Given the description of an element on the screen output the (x, y) to click on. 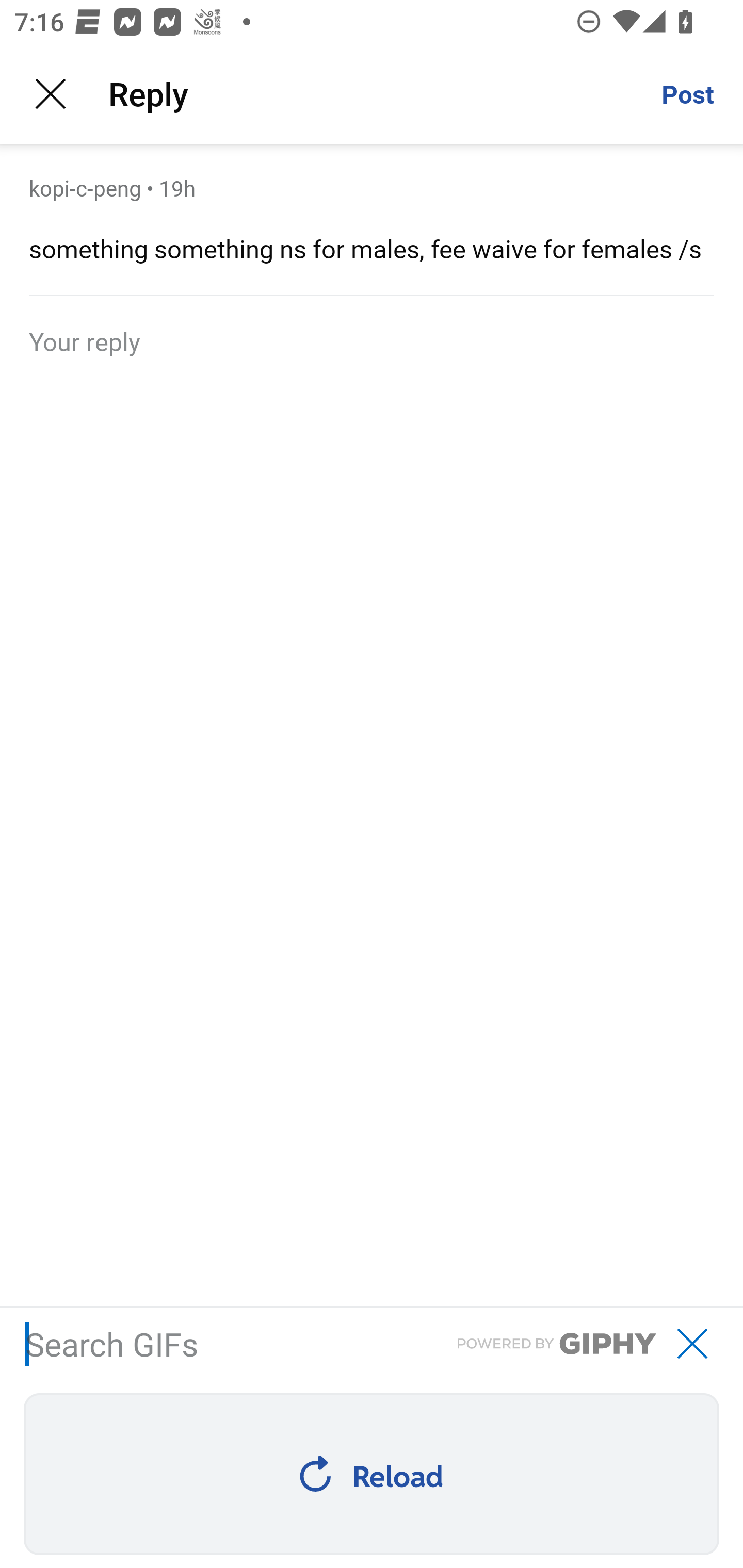
Close (50, 93)
Post (687, 94)
Your reply (371, 340)
Search GIFs (335, 1343)
Search GIFs (692, 1343)
Reload (370, 1473)
